Given the description of an element on the screen output the (x, y) to click on. 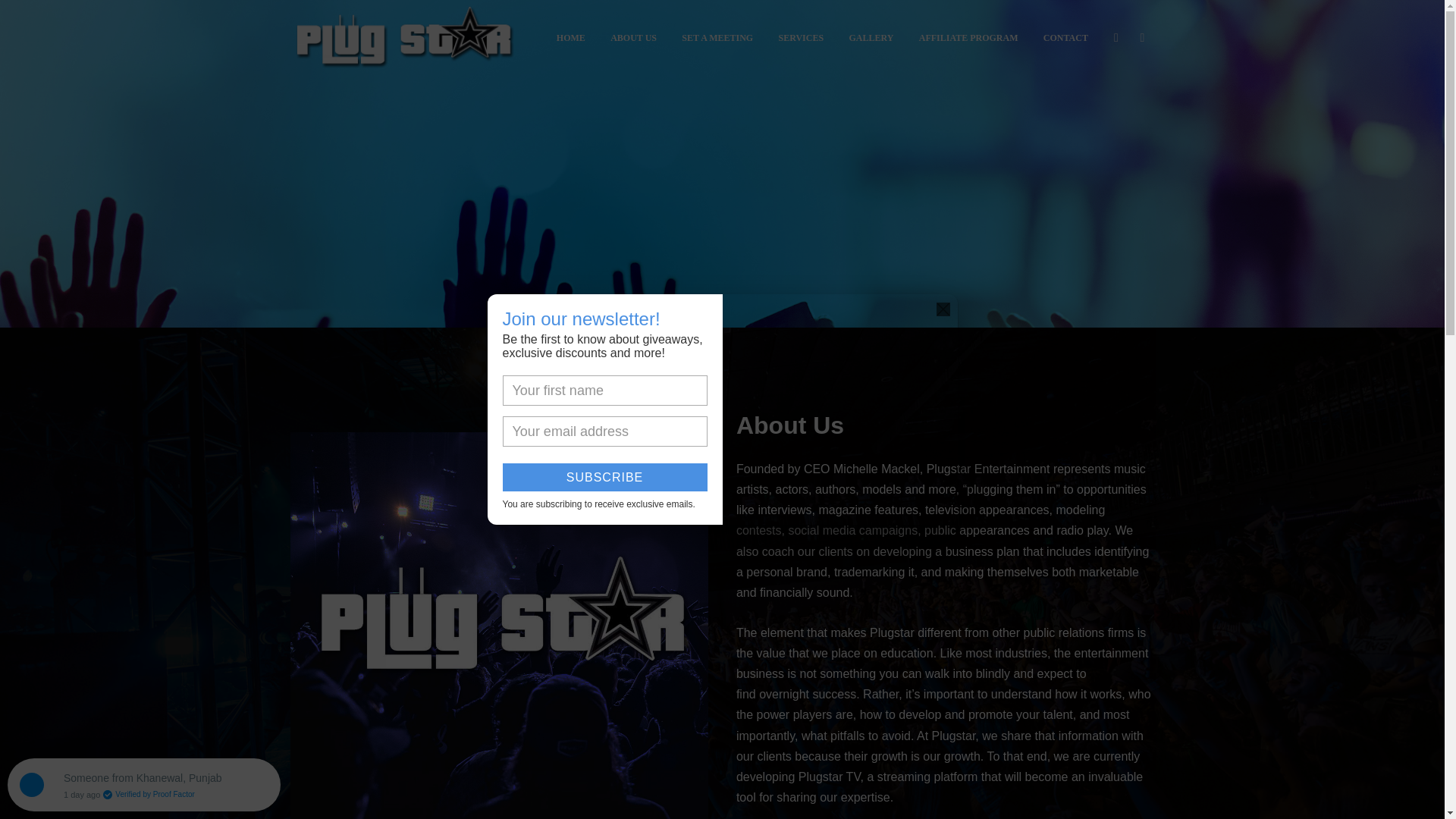
CONTACT (1065, 38)
SET A MEETING (716, 38)
AFFILIATE PROGRAM (968, 38)
ABOUT US (633, 38)
SUBSCRIBE (604, 477)
SERVICES (801, 38)
GALLERY (870, 38)
Verified by Proof Factor (147, 794)
